Given the description of an element on the screen output the (x, y) to click on. 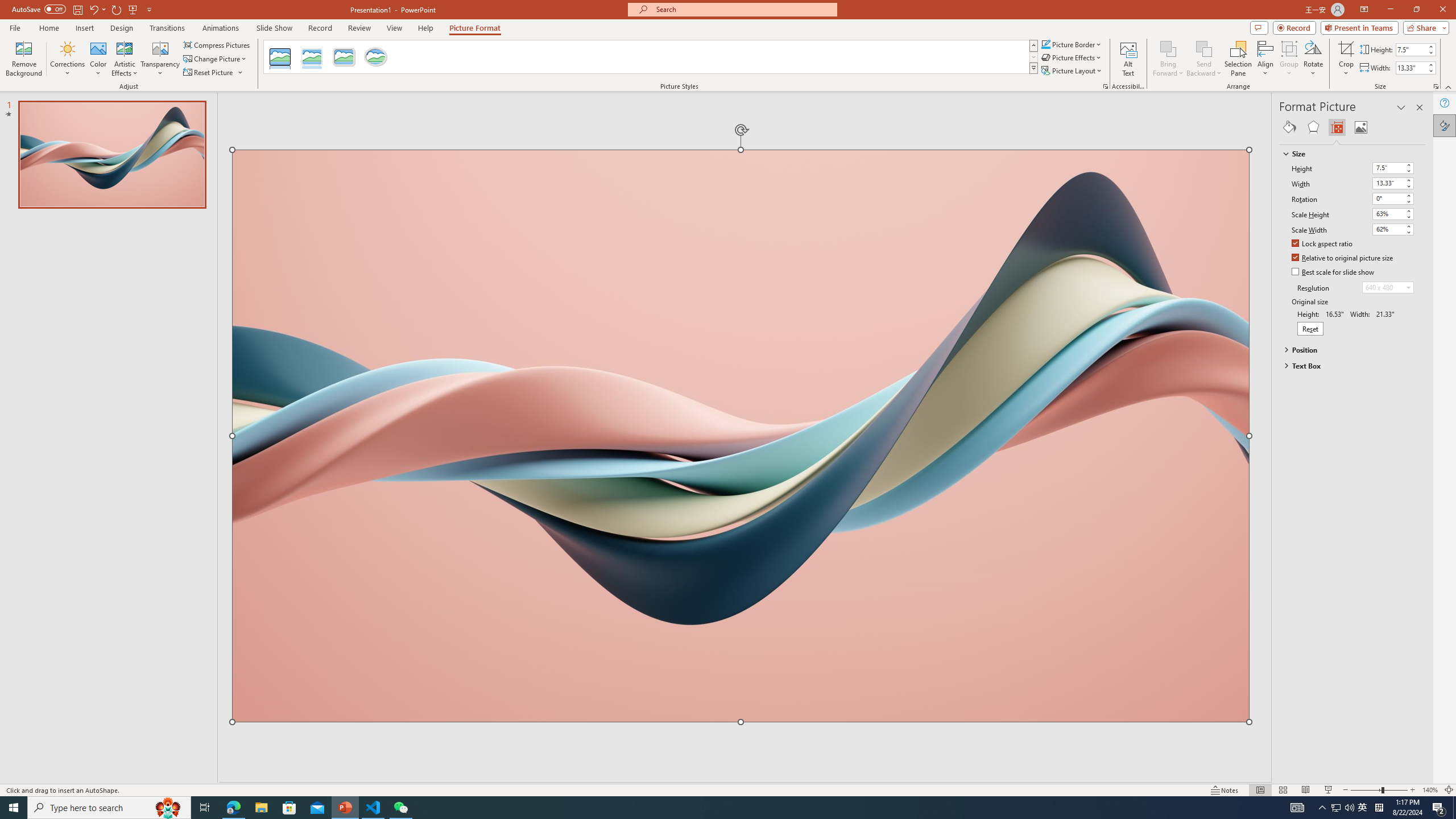
Send Backward (1204, 58)
Fill & Line (1288, 126)
Group (1288, 58)
AutomationID: PictureStylesGallery (650, 56)
Align (1264, 58)
Picture... (1104, 85)
